Given the description of an element on the screen output the (x, y) to click on. 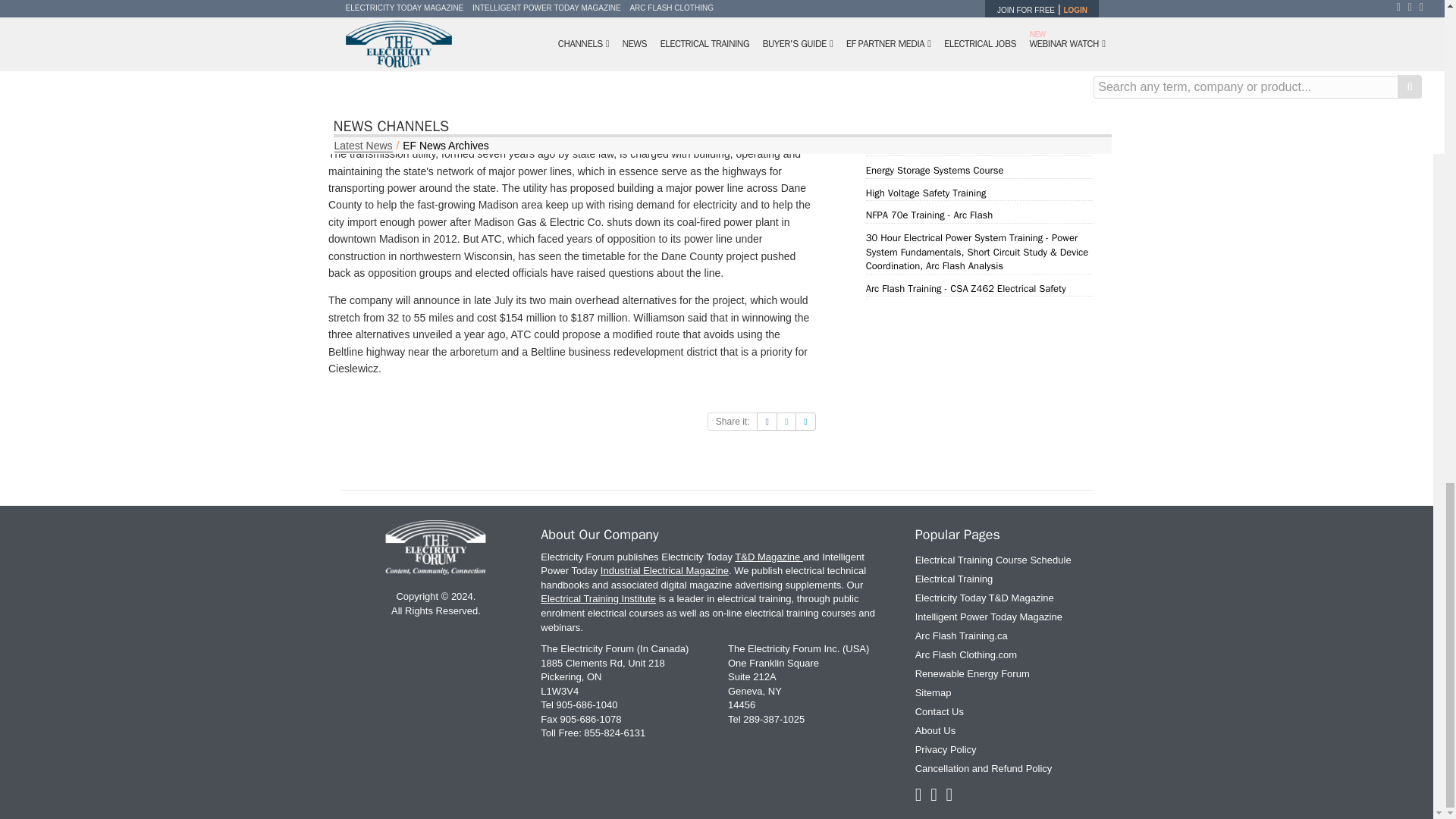
On LinkedIn (804, 421)
On Facebook (766, 421)
Share it: (732, 421)
On Twitter (786, 421)
